Given the description of an element on the screen output the (x, y) to click on. 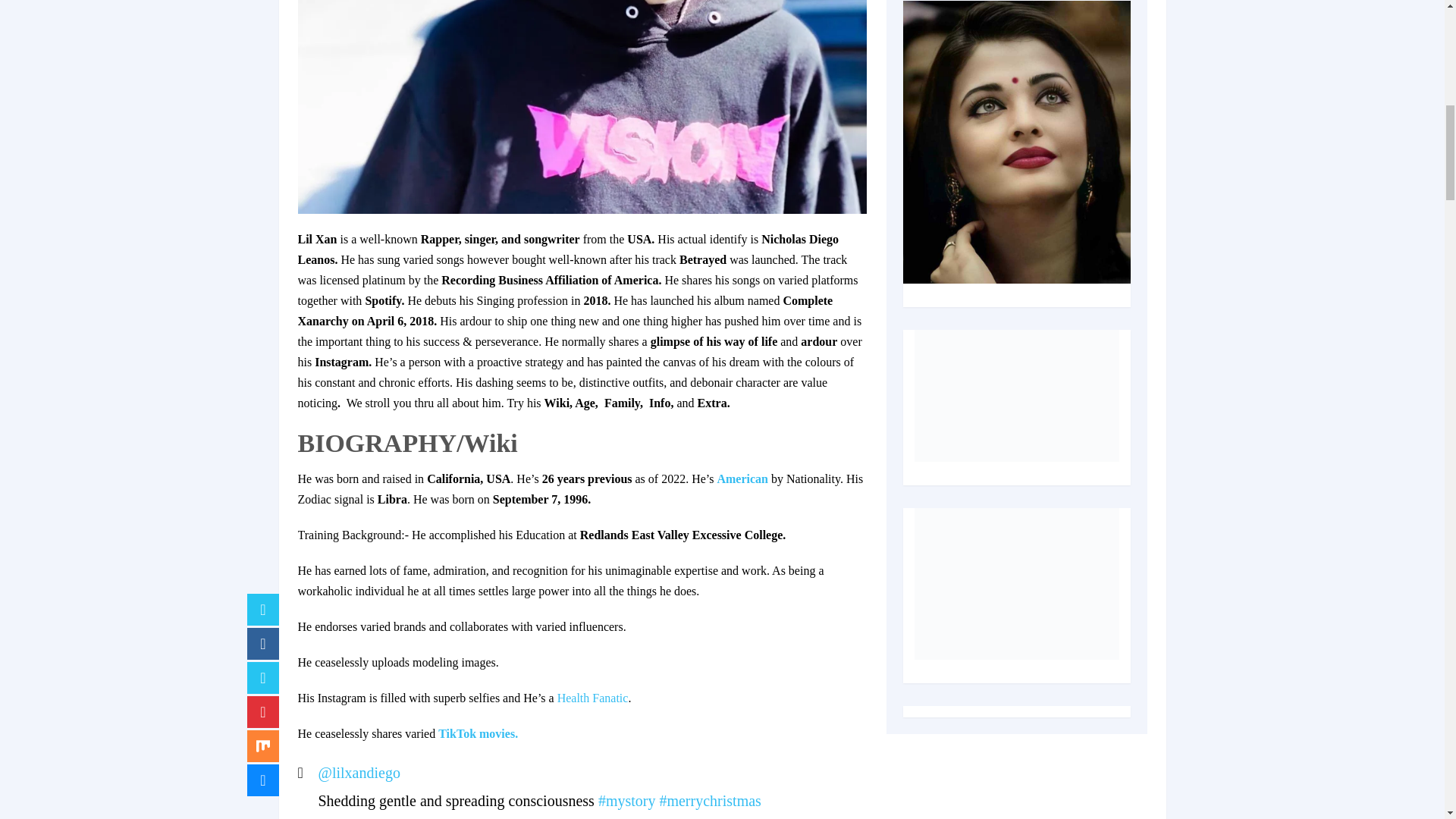
Ryan Ochoa Wiki (592, 697)
Carlos Ponce Wiki (742, 478)
TikTok movies. (478, 733)
mystory (627, 800)
Health Fanatic (592, 697)
American (742, 478)
merrychristmas (709, 800)
